Given the description of an element on the screen output the (x, y) to click on. 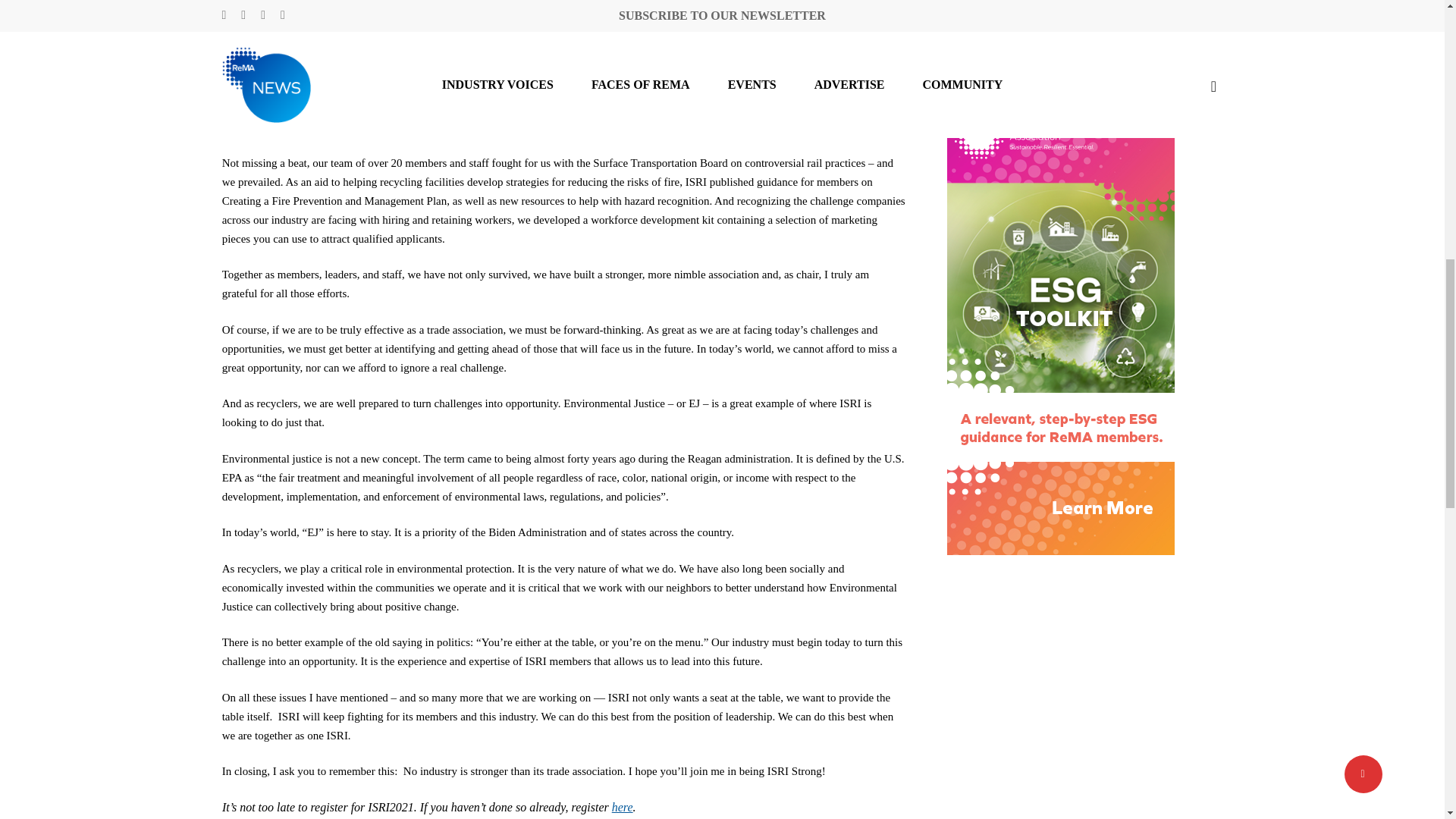
here (622, 807)
